Given the description of an element on the screen output the (x, y) to click on. 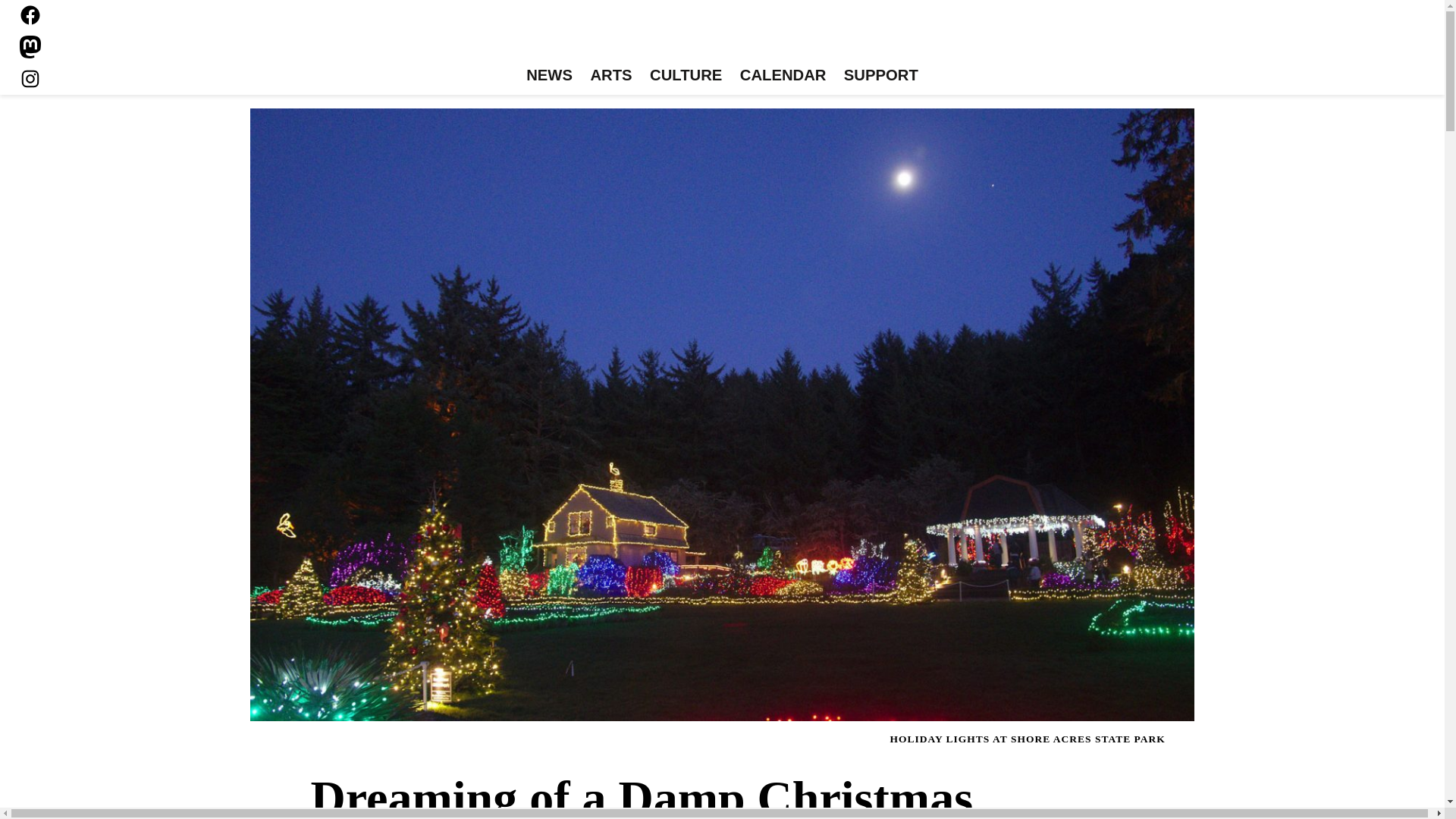
NEWS (548, 75)
Instagram (30, 78)
Facebook (30, 15)
Mastodon (30, 47)
SUPPORT (880, 75)
ARTS (611, 75)
CALENDAR (782, 75)
CULTURE (685, 75)
Eugene Weekly (721, 37)
